Given the description of an element on the screen output the (x, y) to click on. 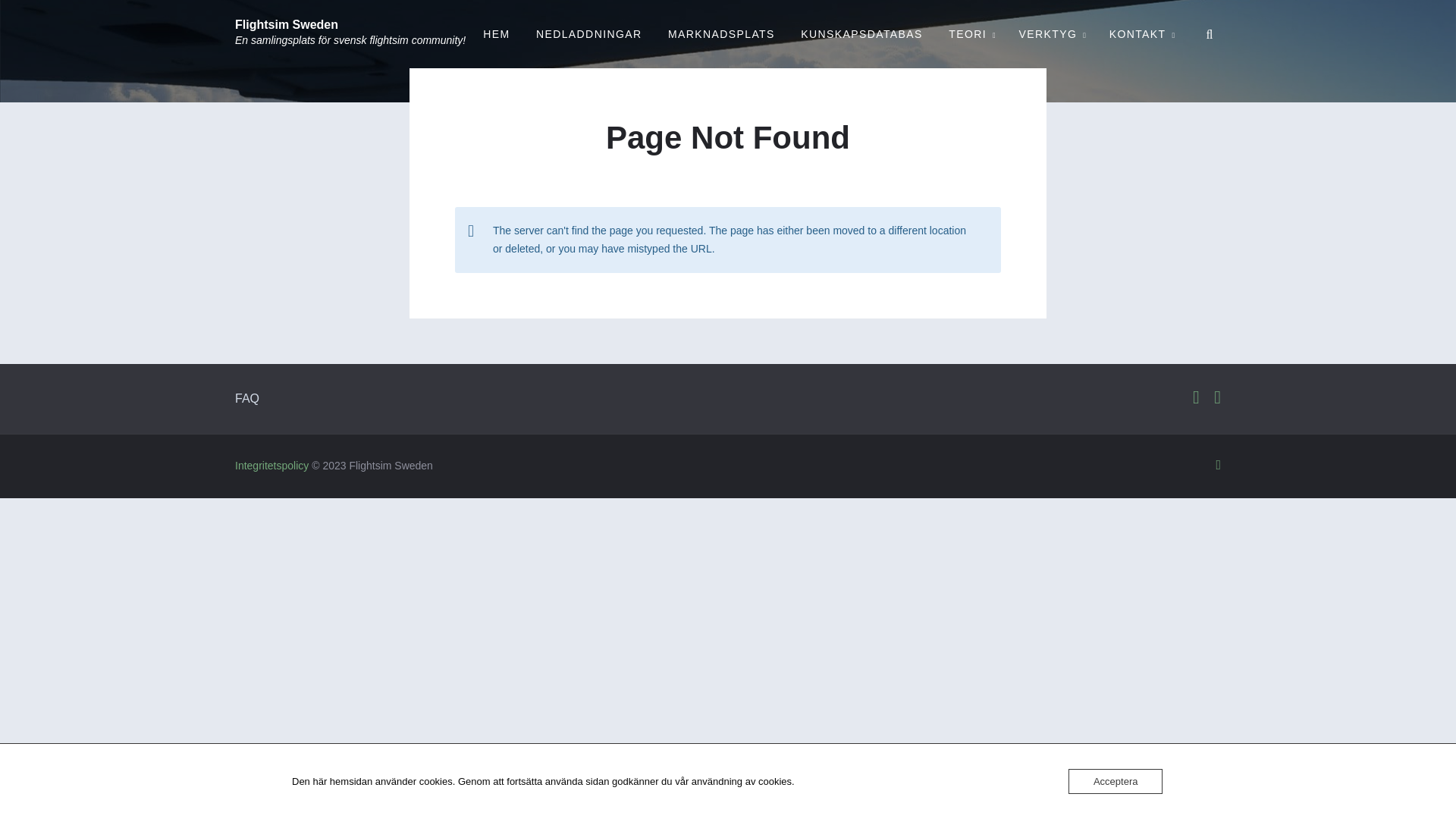
Expand search (1209, 34)
Social Media Links (1194, 396)
NEDLADDNINGAR (588, 34)
Flightsim Sweden (285, 24)
HEM (496, 34)
MARKNADSPLATS (721, 34)
KUNSKAPSDATABAS (861, 34)
VERKTYG (1051, 34)
TEORI (971, 34)
KONTAKT (1140, 34)
